Given the description of an element on the screen output the (x, y) to click on. 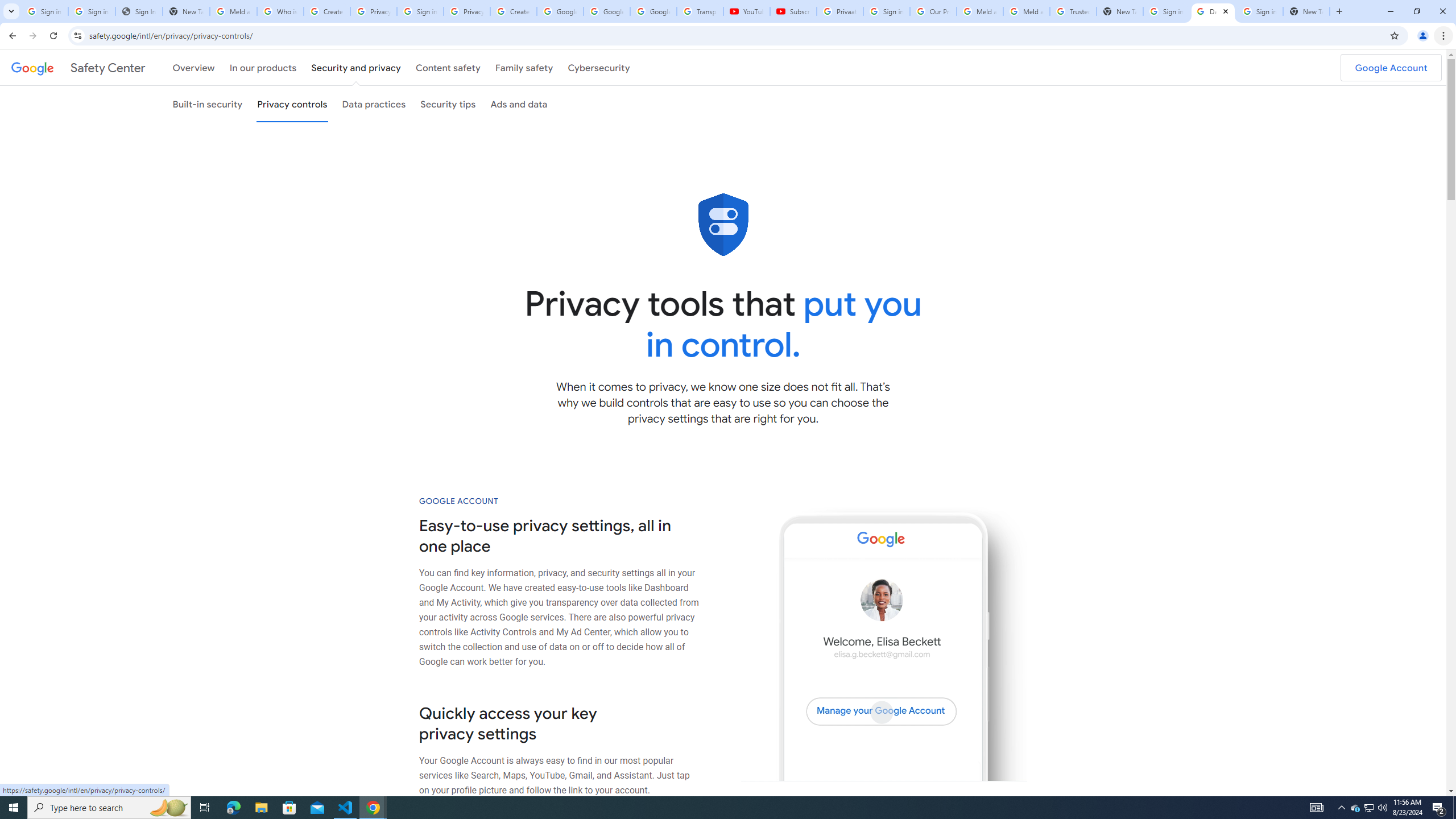
Sign in - Google Accounts (44, 11)
Trusted Information and Content - Google Safety Center (1073, 11)
Safety Center (78, 67)
Sign in - Google Accounts (91, 11)
In our products (262, 67)
Built-in security (207, 103)
Create your Google Account (326, 11)
Security tips (448, 103)
Google Account (1390, 67)
Ads and data (518, 103)
